Given the description of an element on the screen output the (x, y) to click on. 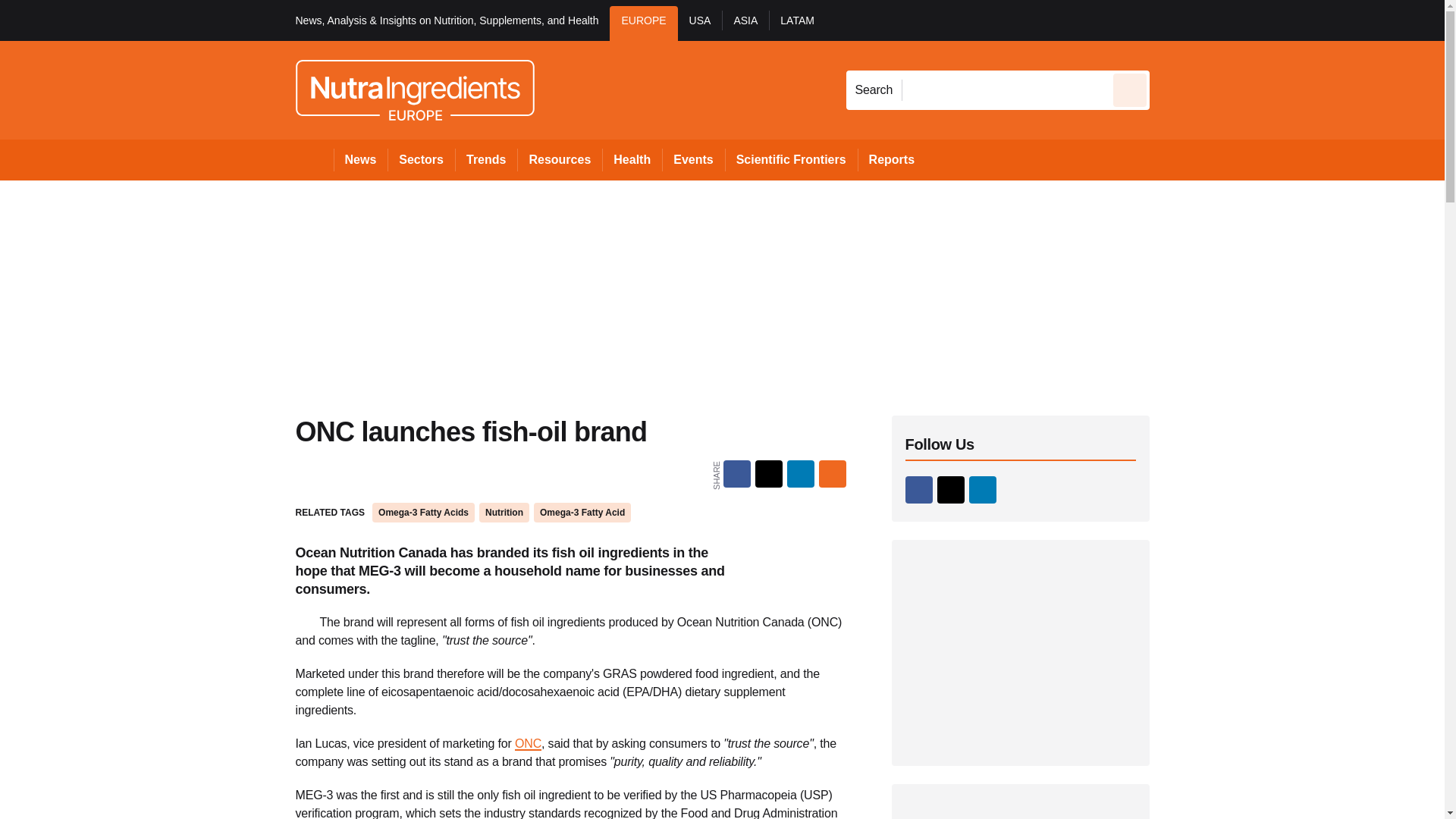
USA (700, 22)
ASIA (745, 22)
News (360, 159)
3rd party ad content (1020, 652)
Register (1231, 20)
Sign out (1174, 20)
Sectors (420, 159)
Send (1129, 90)
Send (1129, 89)
